Given the description of an element on the screen output the (x, y) to click on. 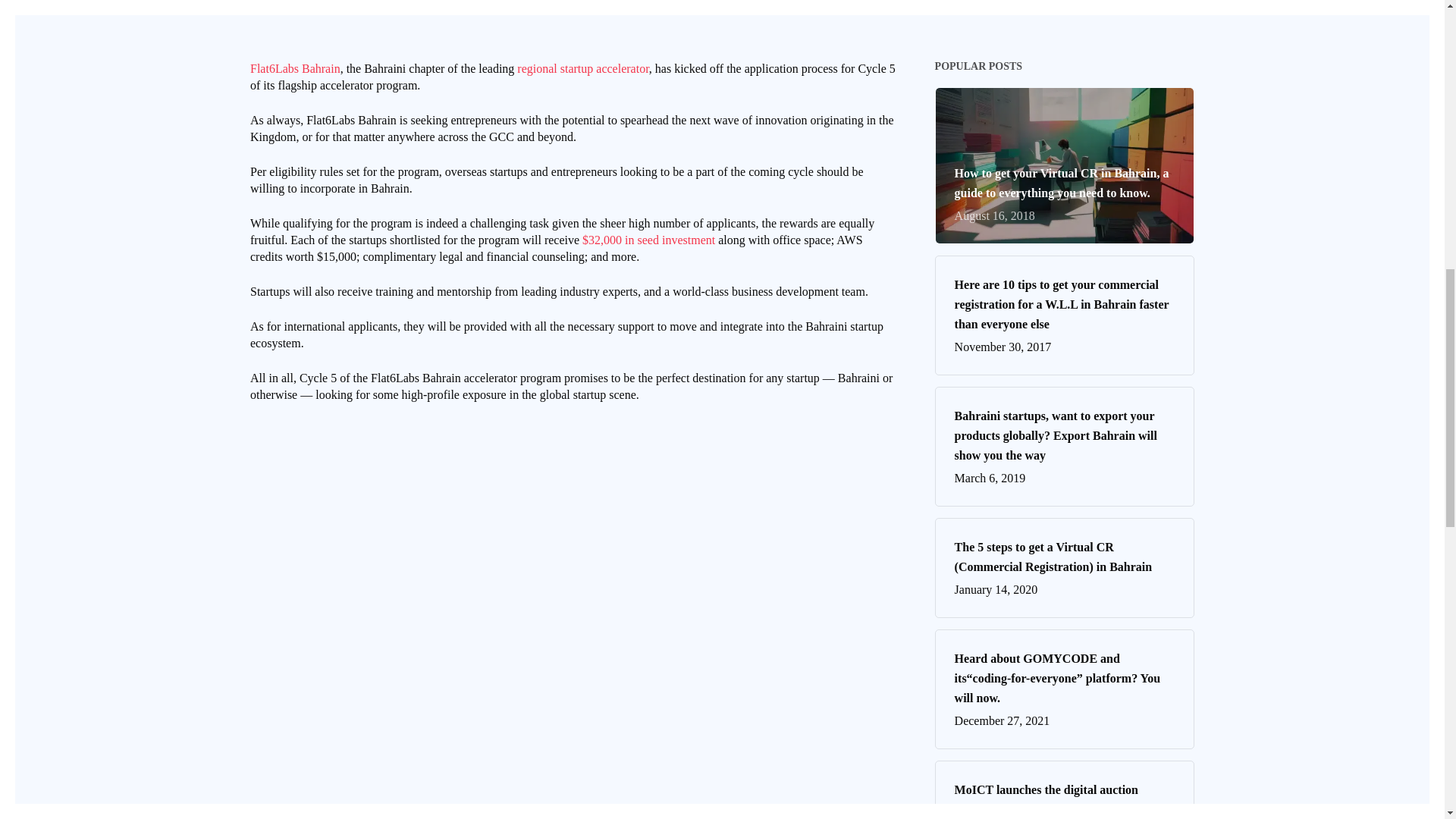
Flat6Labs Bahrain (295, 68)
regional startup accelerator (1064, 799)
